Given the description of an element on the screen output the (x, y) to click on. 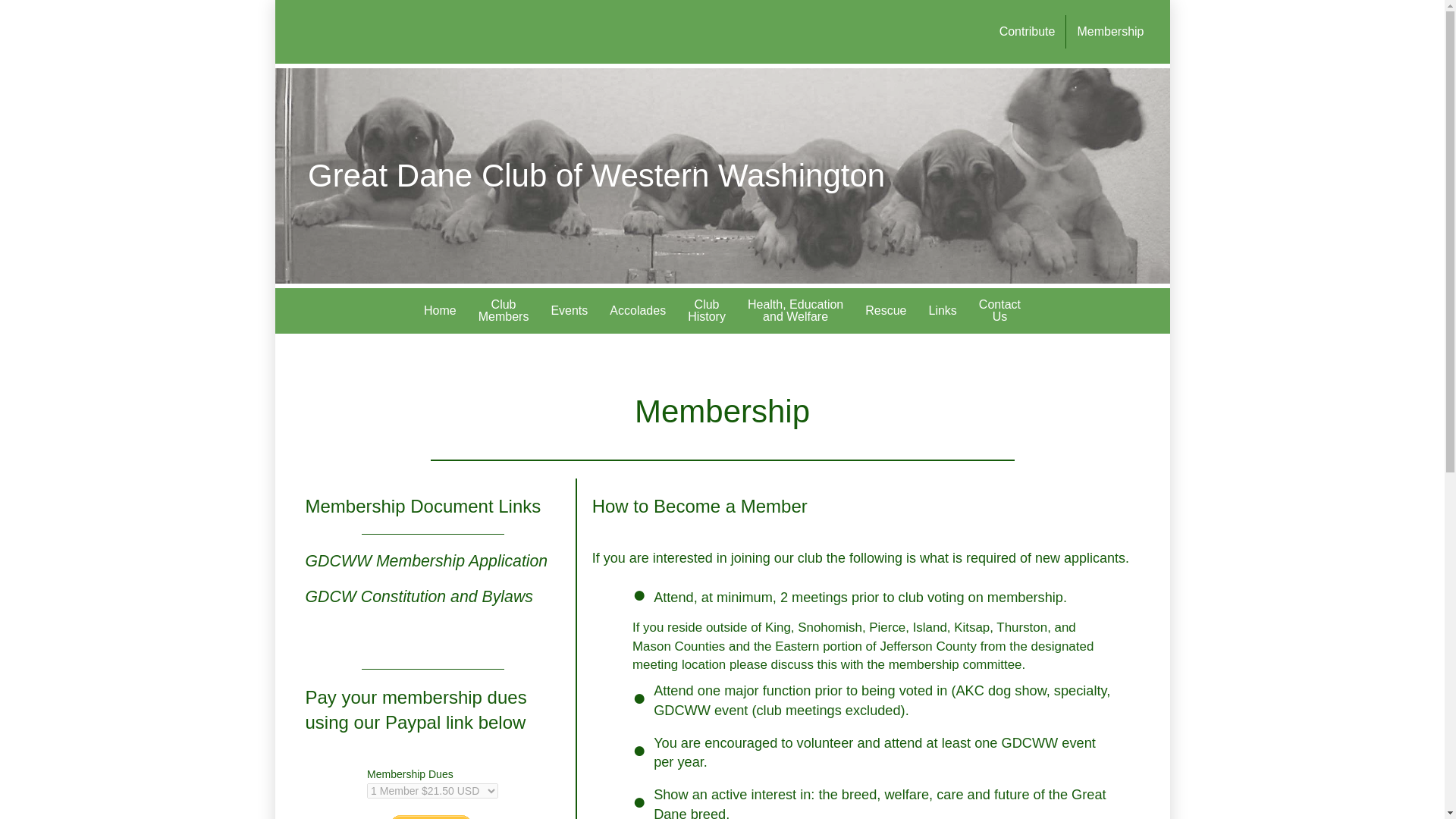
GDCW Constitution and Bylaws (418, 597)
Contribute (1026, 31)
GDCWW Membership Application (425, 561)
Rescue (794, 310)
Accolades (999, 310)
Links (885, 310)
